Given the description of an element on the screen output the (x, y) to click on. 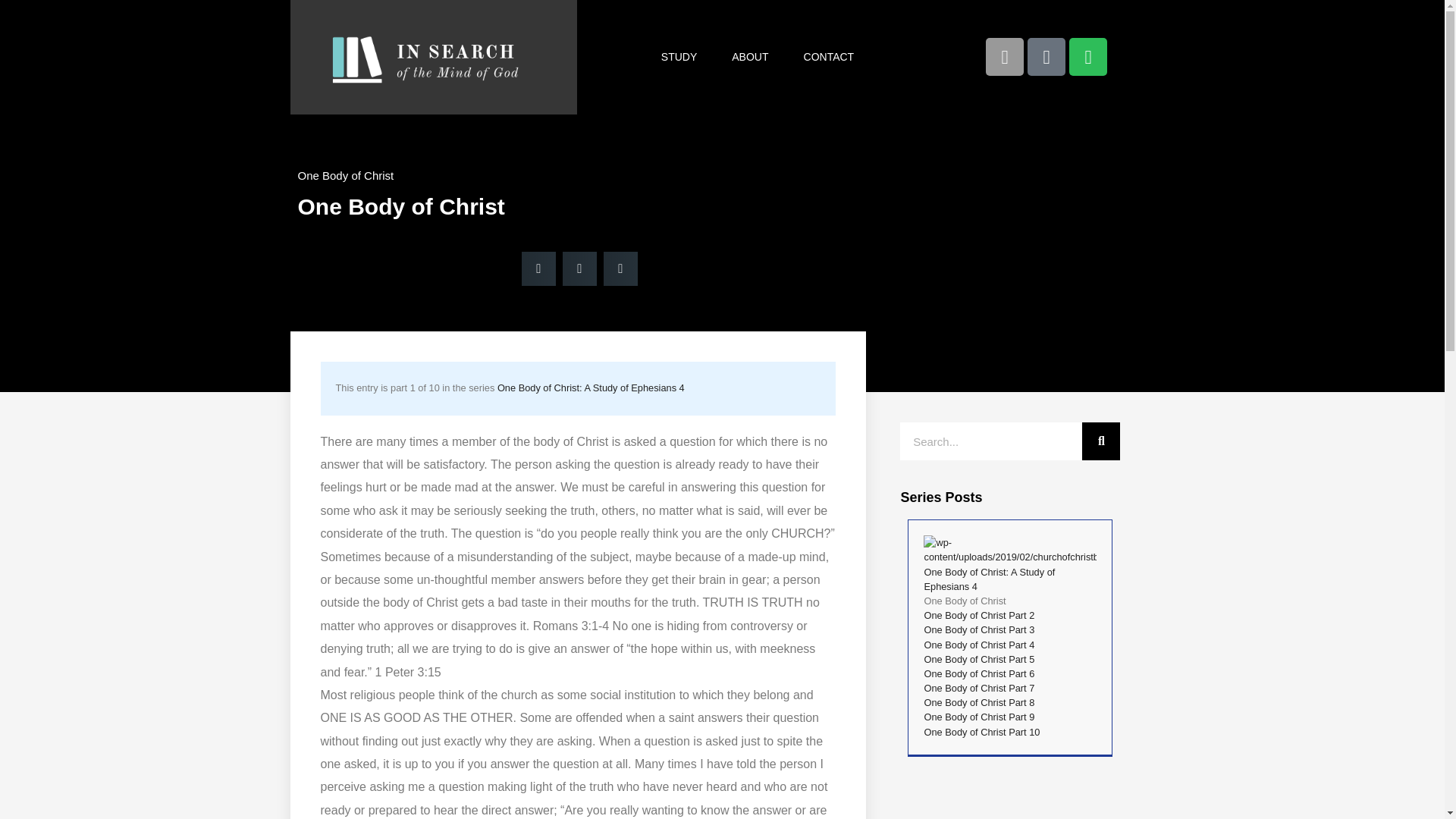
One Body of Christ Part 4 (978, 644)
One Body of Christ: A Study of Ephesians 4 (590, 387)
One Body of Christ Part 8 (978, 702)
One Body of Christ Part 3 (978, 629)
One Body of Christ Part 10 (981, 731)
One Body of Christ Part 9 (978, 716)
One Body of Christ Part 3 (978, 629)
CONTACT (829, 56)
One Body of Christ Part 5 (978, 659)
One Body of Christ Part 2 (978, 614)
